Given the description of an element on the screen output the (x, y) to click on. 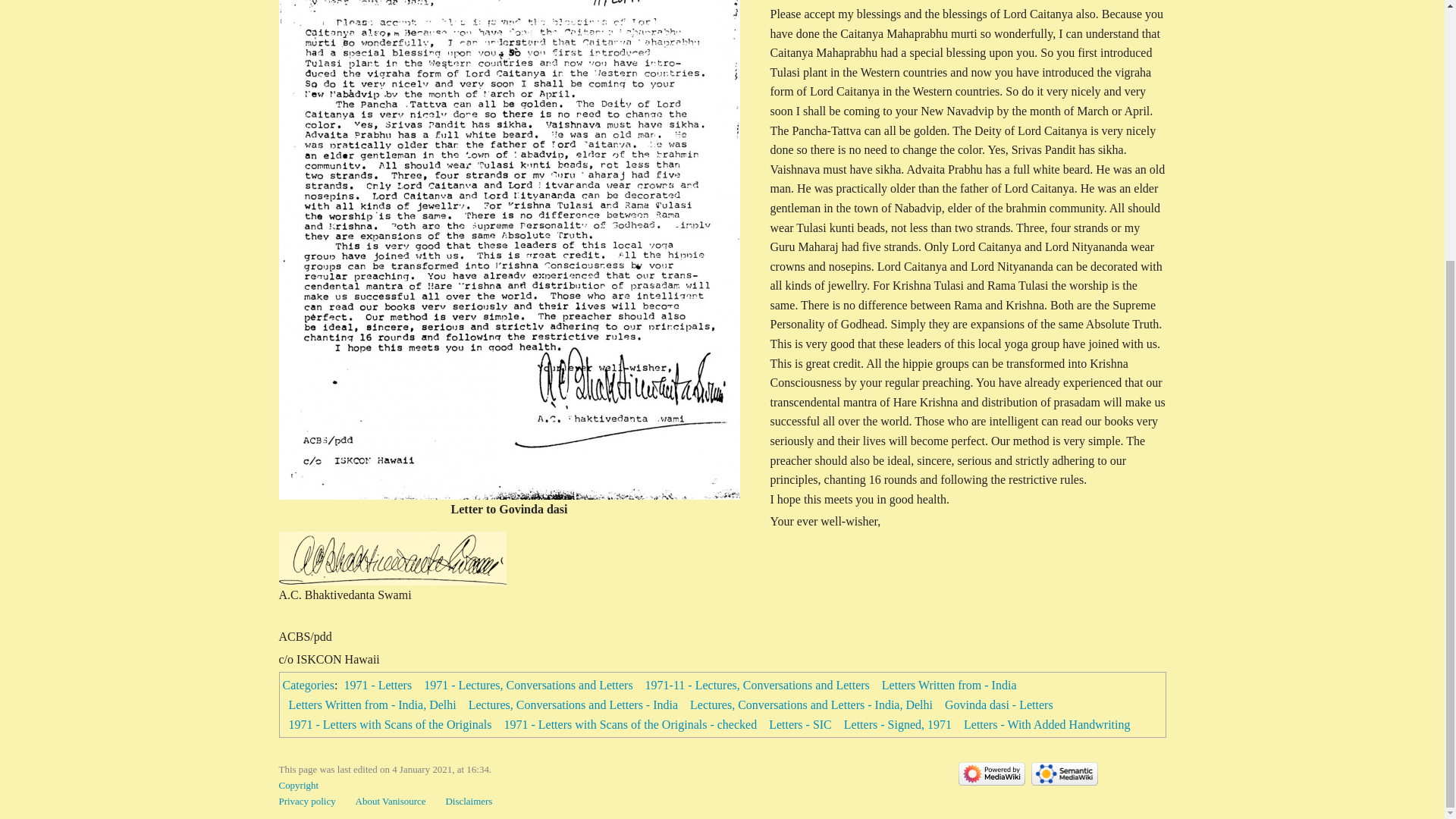
Category:1971 - Lectures, Conversations and Letters (527, 684)
Category:1971-11 - Lectures, Conversations and Letters (757, 684)
Category:Letters Written from - India (949, 684)
Category:1971 - Letters (377, 684)
Category:Letters Written from - India, Delhi (371, 704)
Category:Lectures, Conversations and Letters - India, Delhi (811, 704)
Special:Categories (307, 684)
Category:Lectures, Conversations and Letters - India (573, 704)
